Given the description of an element on the screen output the (x, y) to click on. 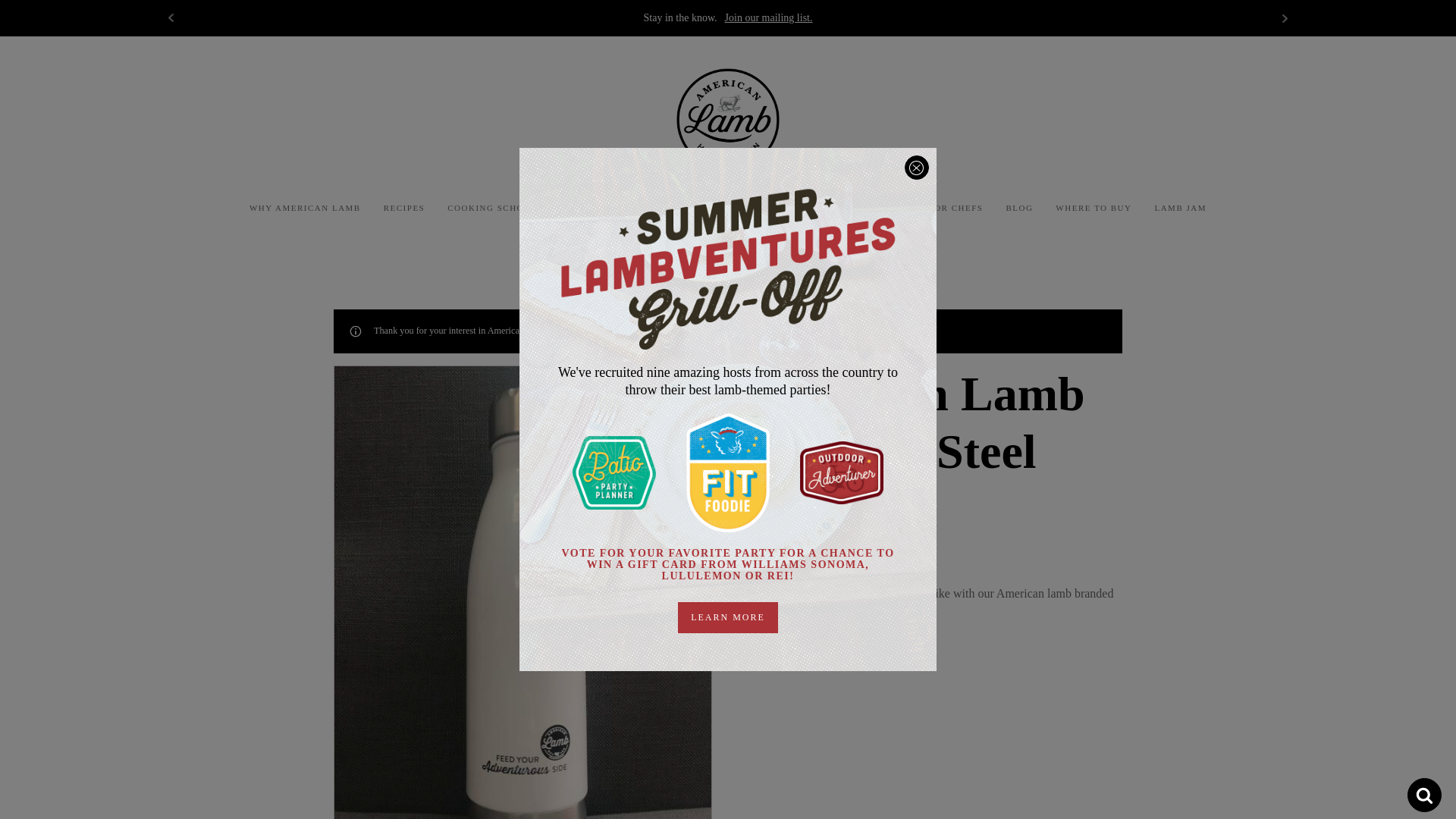
Next (1284, 17)
Prev (170, 17)
RECIPES (404, 208)
LAMB JAM (1179, 208)
FOR CHEFS (955, 208)
BLOG (1018, 208)
SUSTAINABILITY (602, 208)
WHY AMERICAN LAMB (305, 208)
WHERE TO BUY (1092, 208)
NUTRITION (694, 208)
COOKING SCHOOL (491, 208)
Join our mailing list. (768, 17)
